Given the description of an element on the screen output the (x, y) to click on. 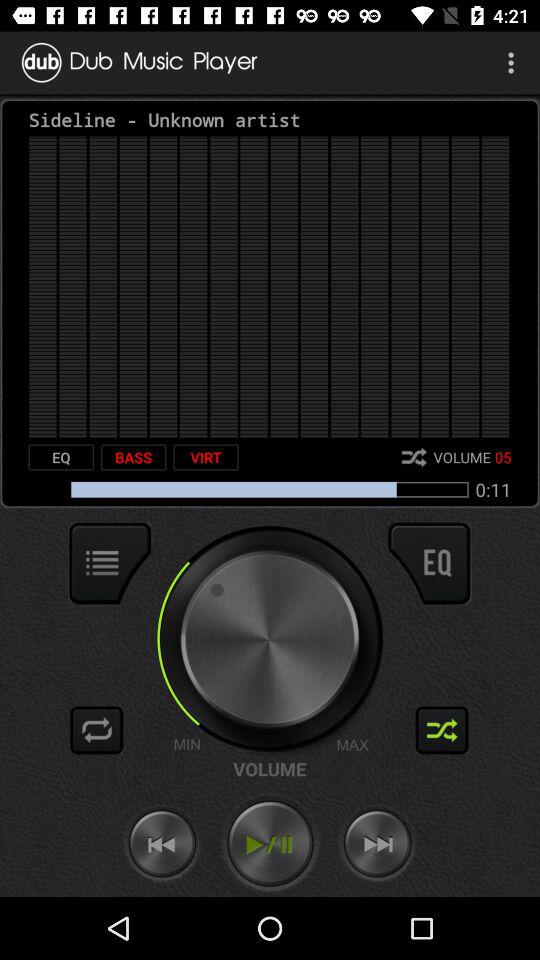
shuffle option (442, 730)
